Given the description of an element on the screen output the (x, y) to click on. 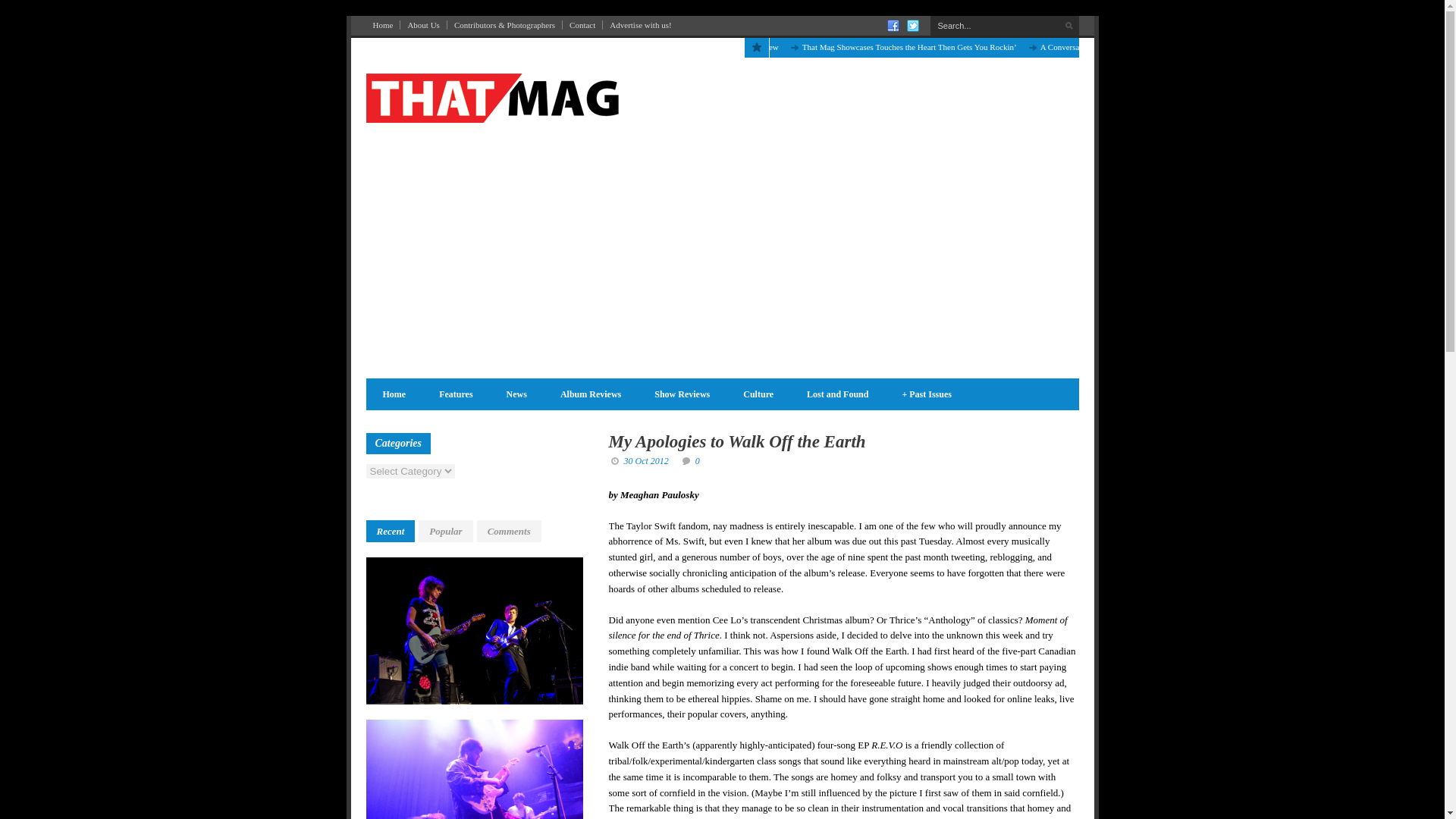
Show Reviews (681, 150)
My Apologies to Walk Off the Earth (736, 198)
Home (382, 8)
30 Oct 2012 (645, 217)
News (516, 150)
Recent (389, 287)
Contact (582, 8)
Comments (509, 287)
Culture (758, 150)
Rebel Girl Review (811, 31)
